Given the description of an element on the screen output the (x, y) to click on. 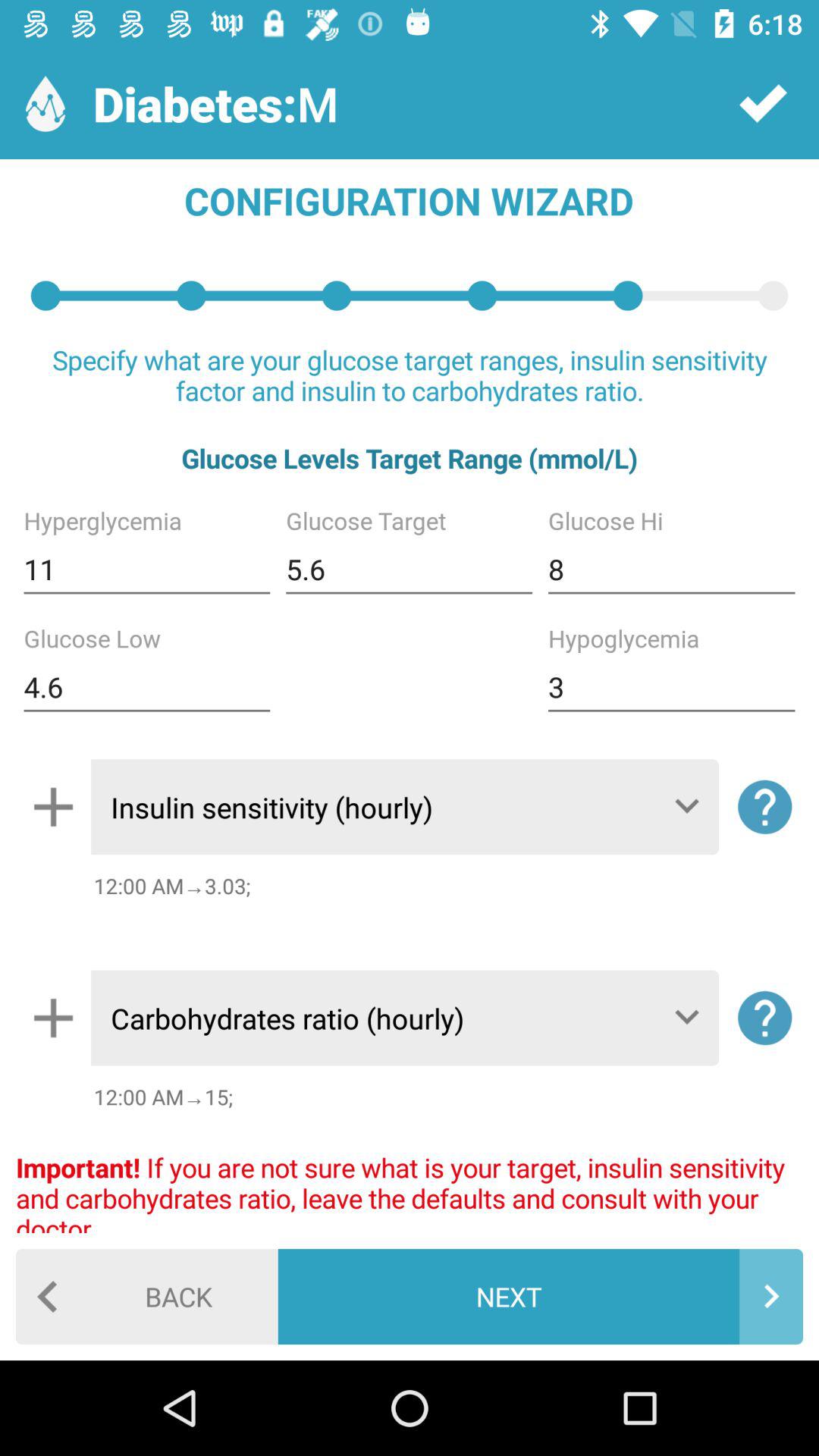
turn on the item to the left of the 5.6 item (146, 569)
